Given the description of an element on the screen output the (x, y) to click on. 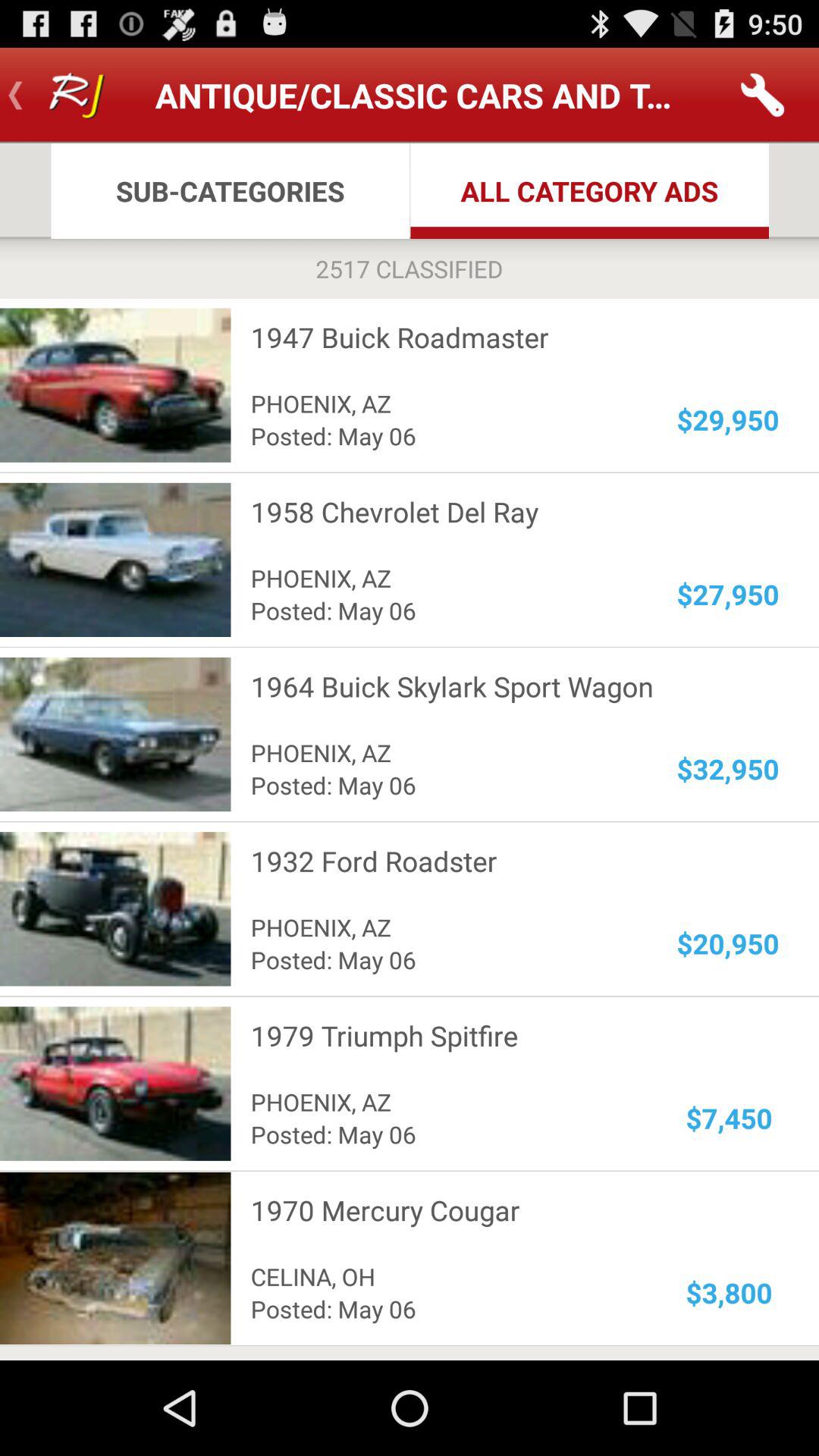
swipe to the celina, oh item (444, 1276)
